Given the description of an element on the screen output the (x, y) to click on. 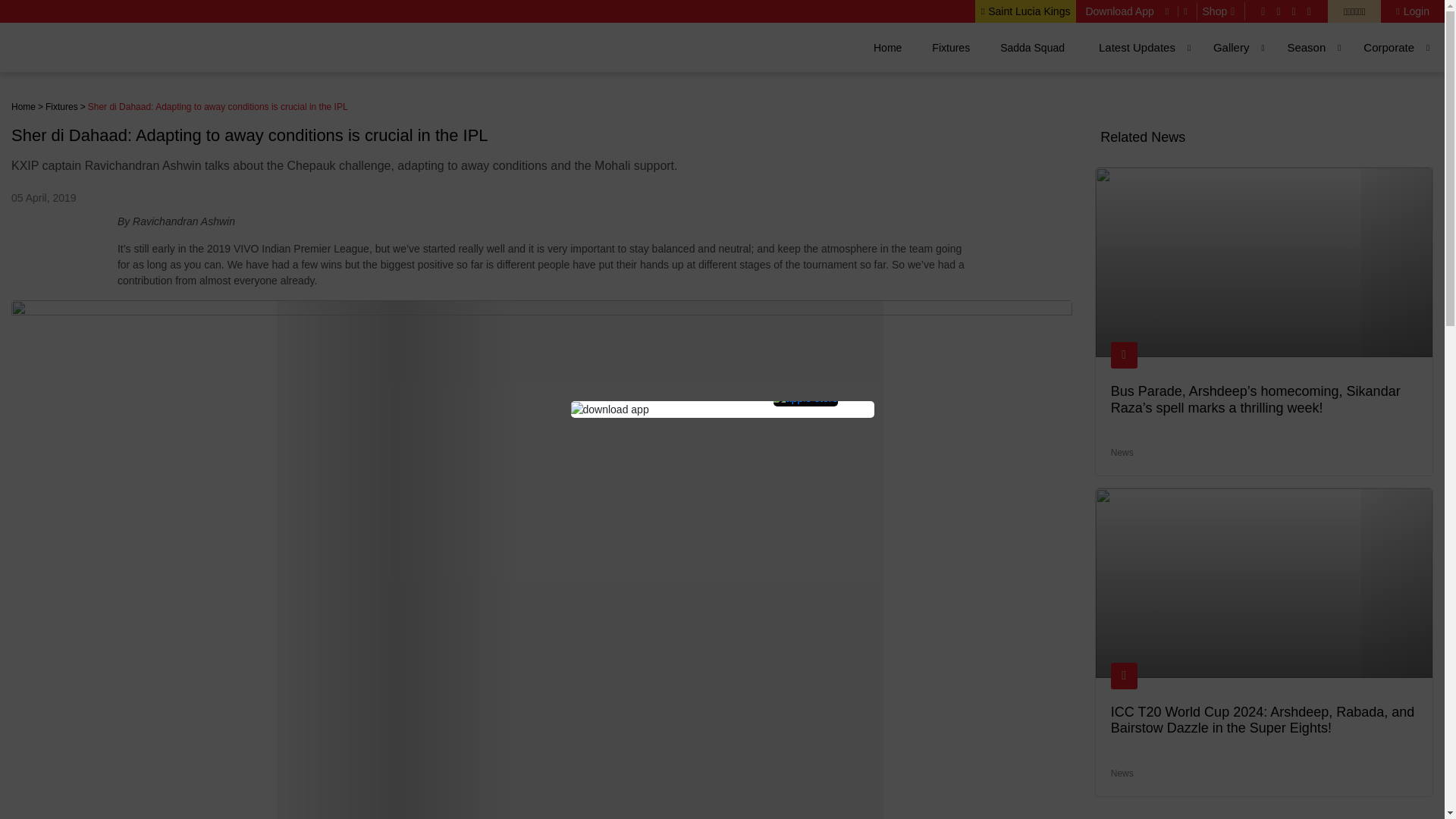
Saint Lucia Kings (1025, 11)
Corporate (1388, 47)
Instagram (1293, 10)
Fixtures (950, 47)
Twitter (1277, 10)
Shop (1220, 11)
Facebook (1262, 10)
Gallery (1231, 47)
Shop (1220, 11)
Download App (1119, 11)
Home (22, 106)
Punjab kings punjabi edition (1354, 11)
YouTube (1309, 10)
Home (887, 47)
Apple Store (1186, 11)
